Given the description of an element on the screen output the (x, y) to click on. 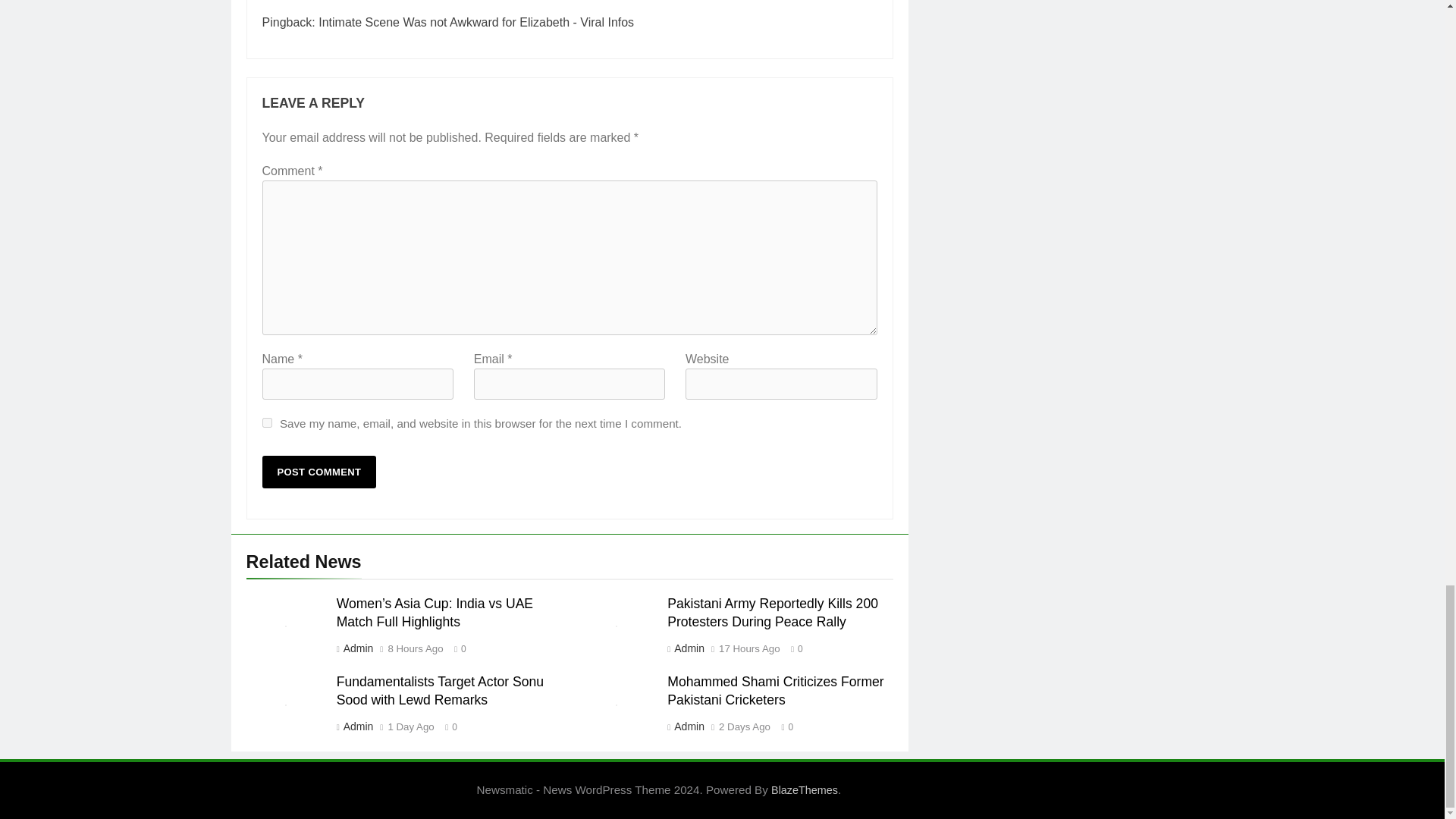
Post Comment (319, 471)
yes (267, 422)
